Given the description of an element on the screen output the (x, y) to click on. 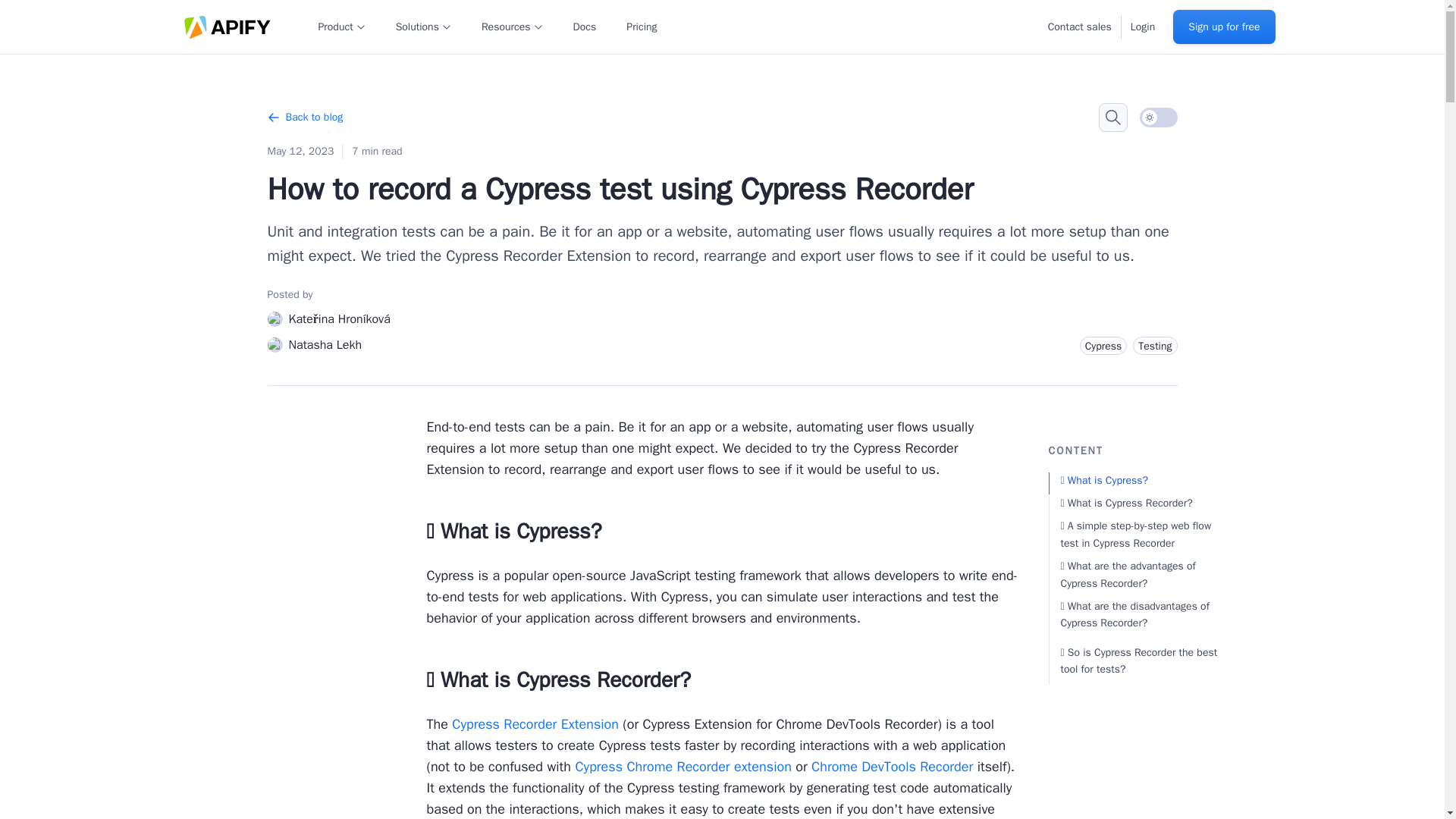
Contact sales (1080, 26)
Docs (584, 26)
Login (1142, 26)
Pricing (641, 26)
Natasha Lekh (313, 344)
Back to blog (304, 117)
Sign up for free (1224, 26)
